Given the description of an element on the screen output the (x, y) to click on. 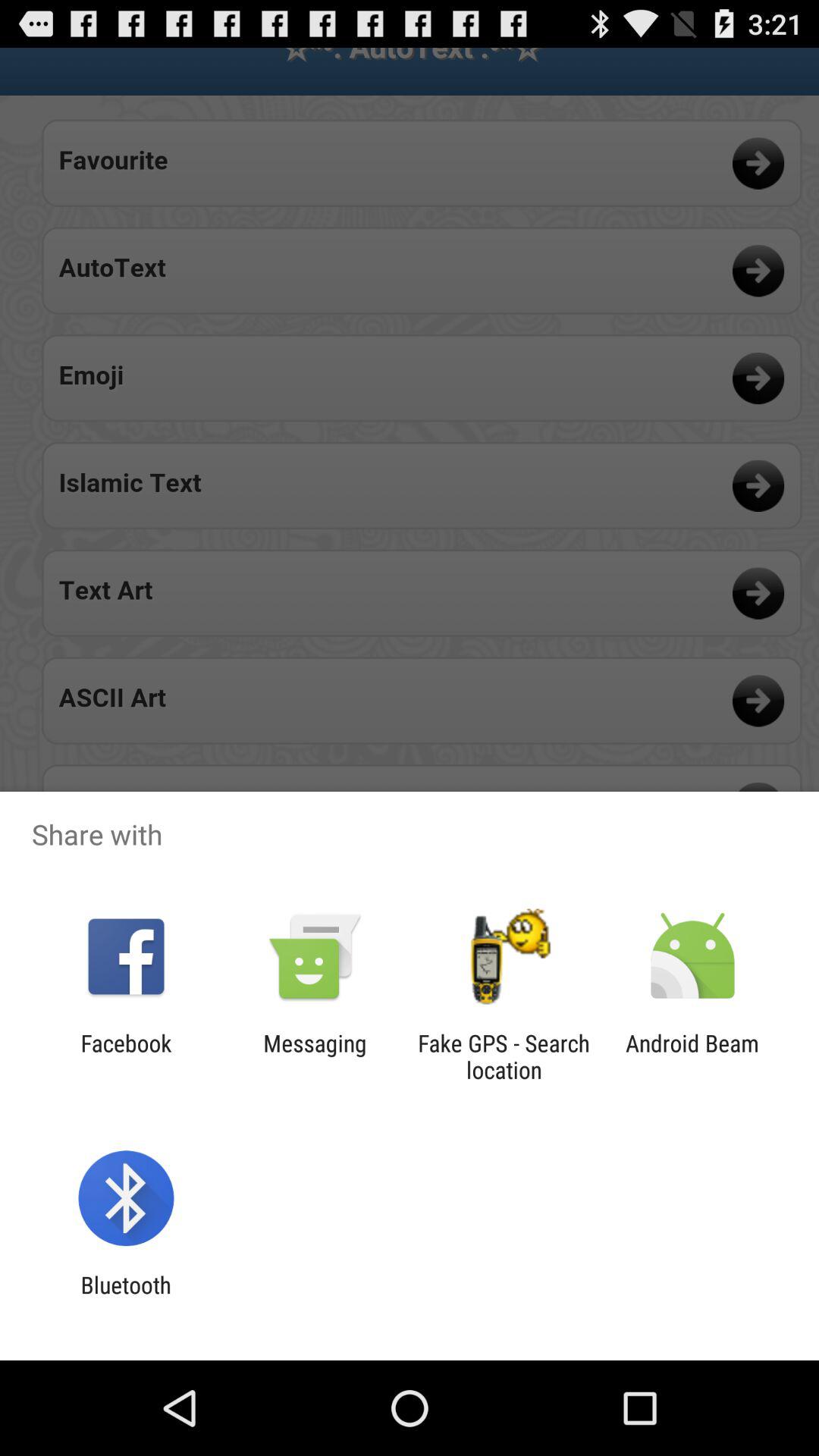
press the icon next to fake gps search (314, 1056)
